Given the description of an element on the screen output the (x, y) to click on. 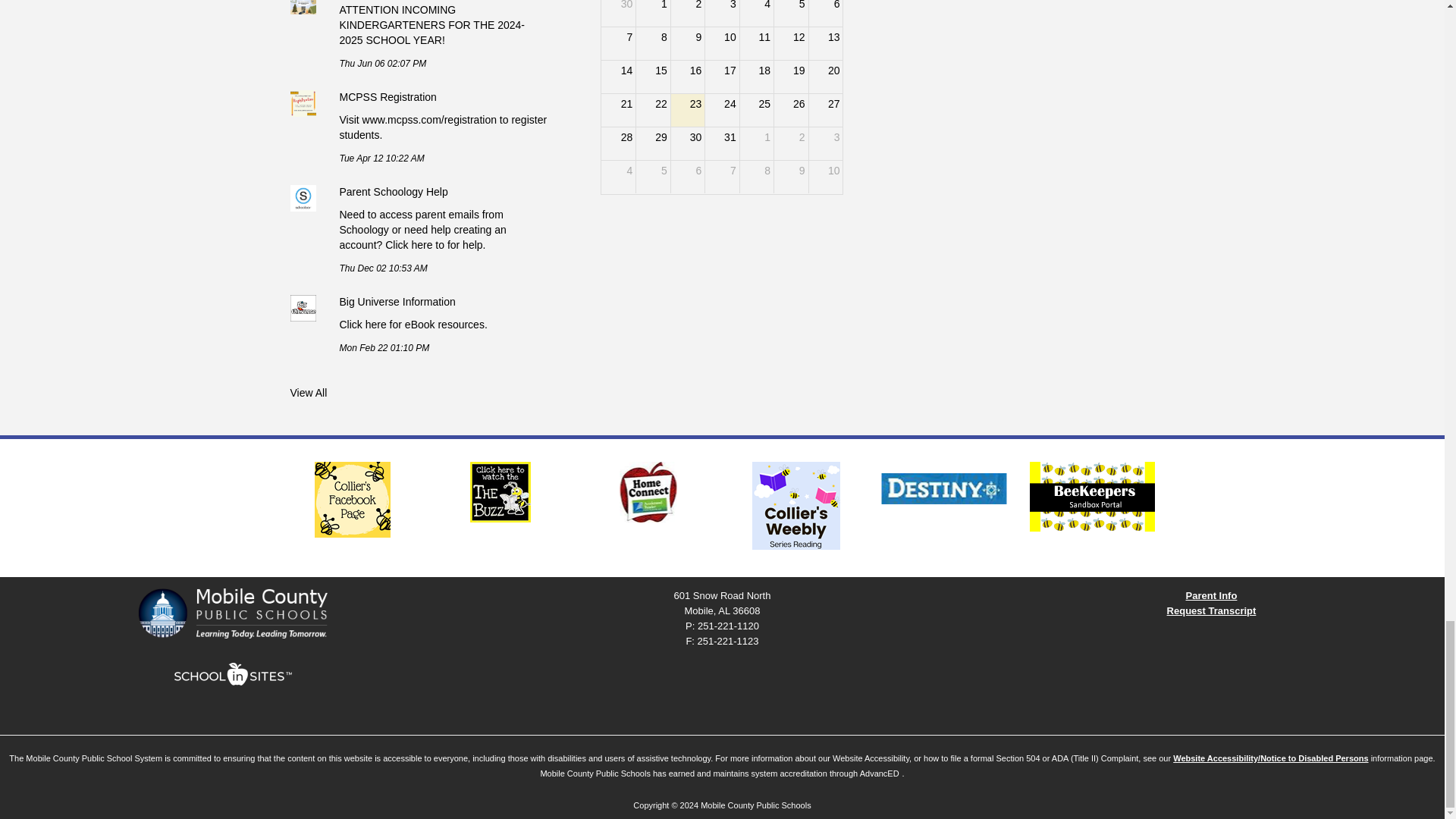
29 (652, 143)
14 (617, 76)
30 (617, 13)
1 (756, 143)
2 (791, 143)
4 (617, 176)
10 (826, 176)
20 (826, 76)
22 (652, 110)
Collier's FB Page (352, 499)
6 (687, 176)
1 (652, 13)
7 (721, 176)
12 (791, 43)
